Given the description of an element on the screen output the (x, y) to click on. 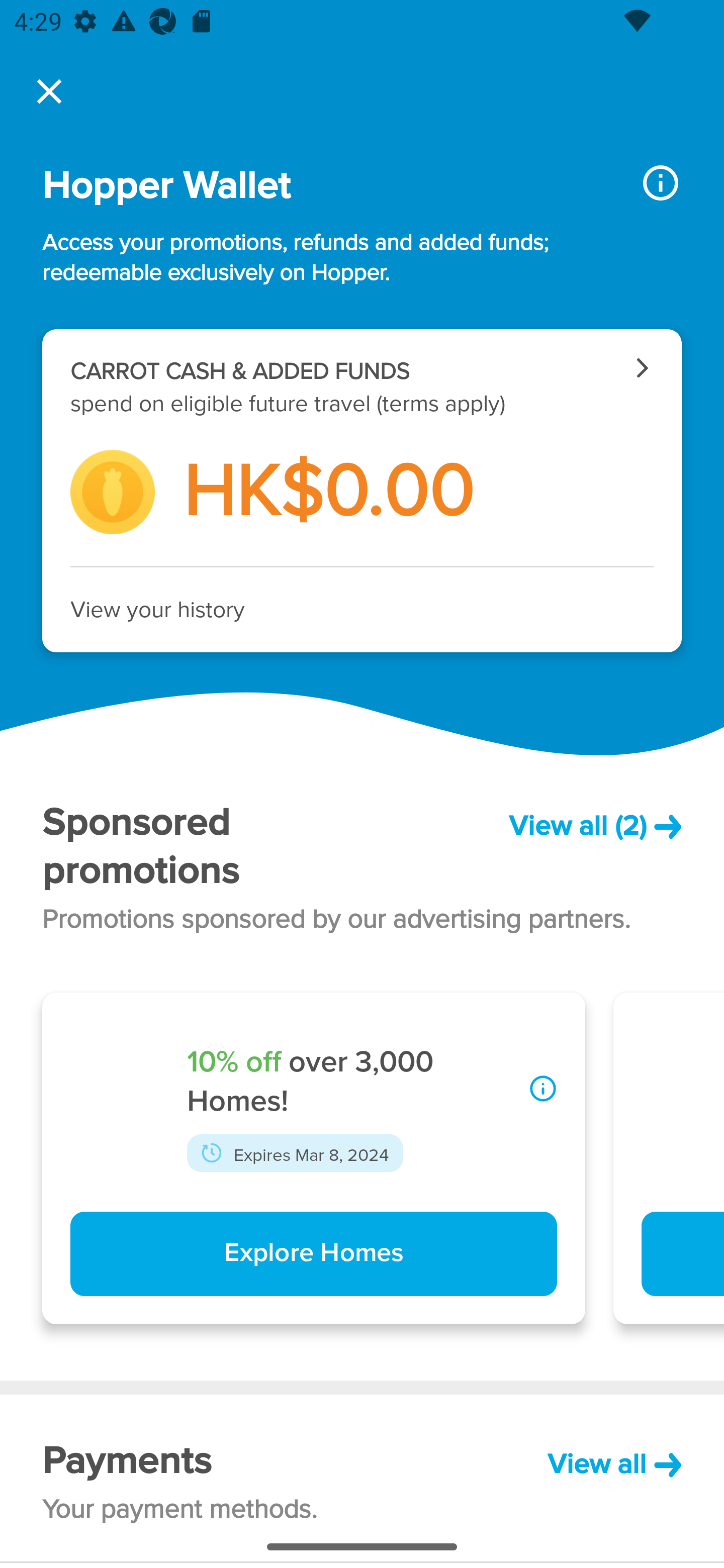
Navigate up (49, 91)
‍View your history (361, 609)
‍Explore Homes (313, 1254)
‍Payments ‍View all ​ ‍Your payment methods. (362, 1477)
